Given the description of an element on the screen output the (x, y) to click on. 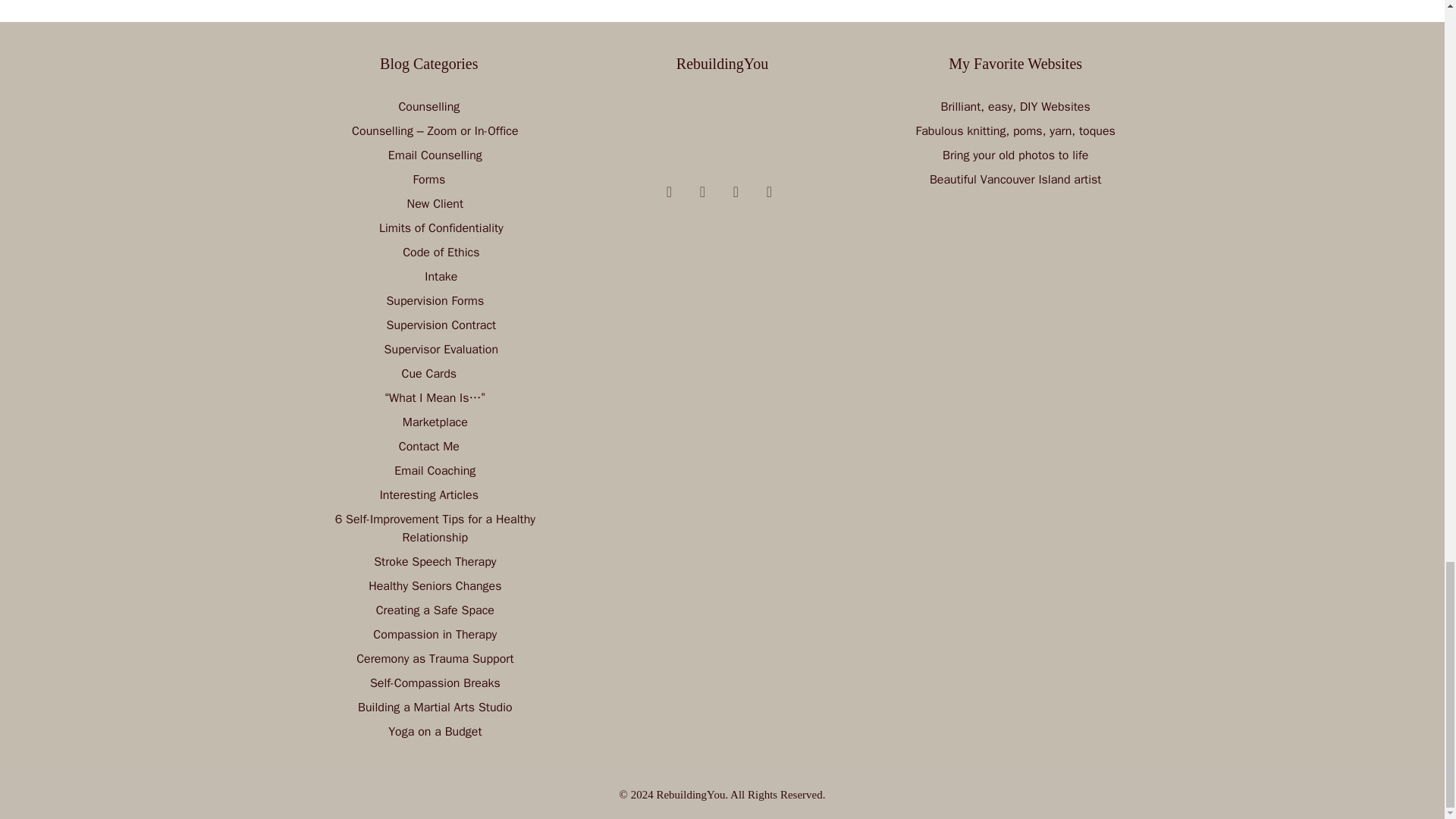
RSS (702, 191)
YouTube (668, 191)
LinkedIn (768, 191)
Twitter (735, 191)
